Given the description of an element on the screen output the (x, y) to click on. 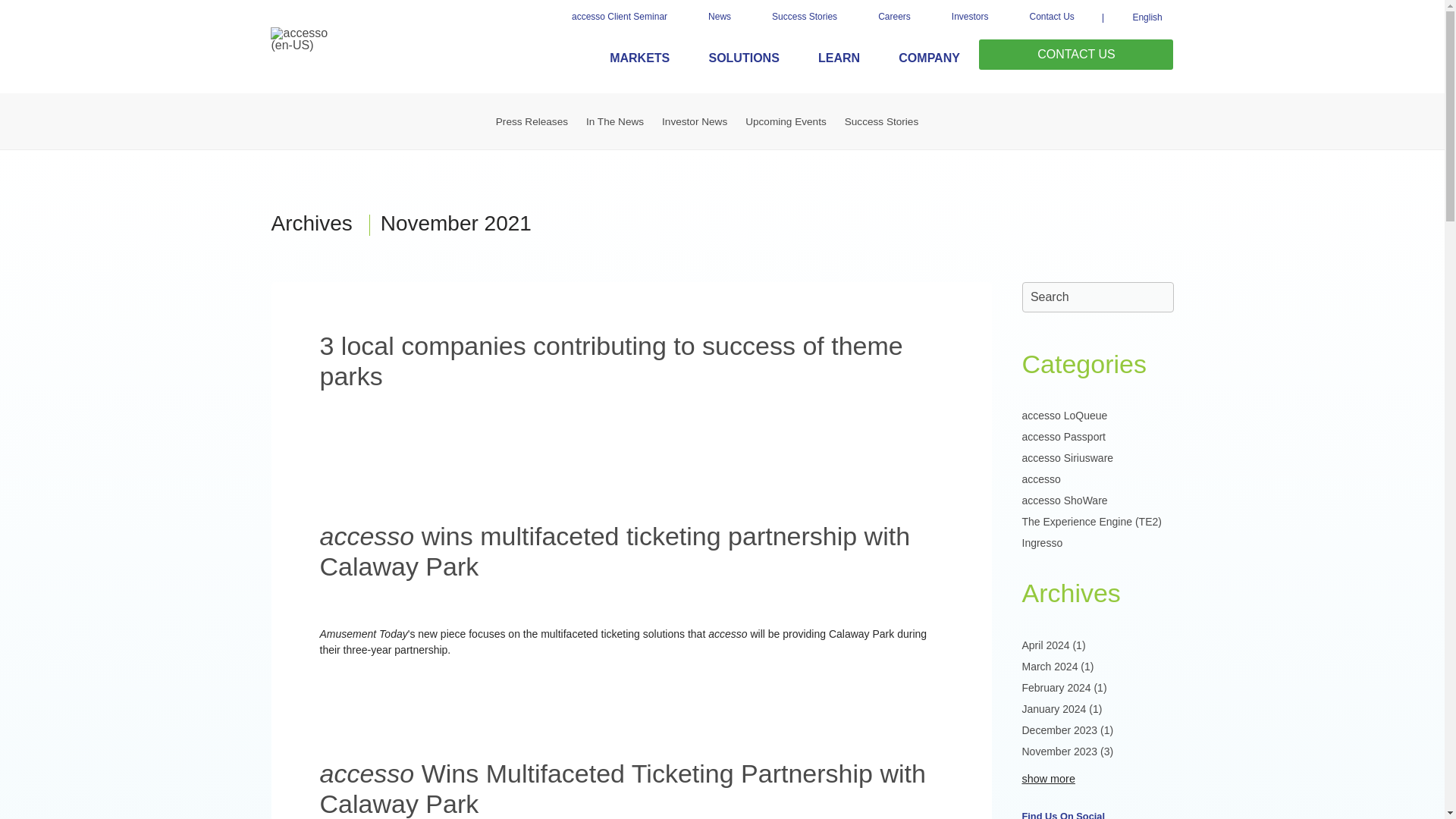
SOLUTIONS (743, 58)
Careers (894, 16)
Contact Us (1051, 16)
accesso Client Seminar (619, 16)
Press Releases (531, 120)
CONTACT US (1075, 54)
Contact Us (1051, 16)
Investors (970, 16)
News (719, 16)
Markets (639, 58)
Success Stories (804, 16)
News (719, 16)
MARKETS (639, 58)
Success Stories (804, 16)
Careers (894, 16)
